Given the description of an element on the screen output the (x, y) to click on. 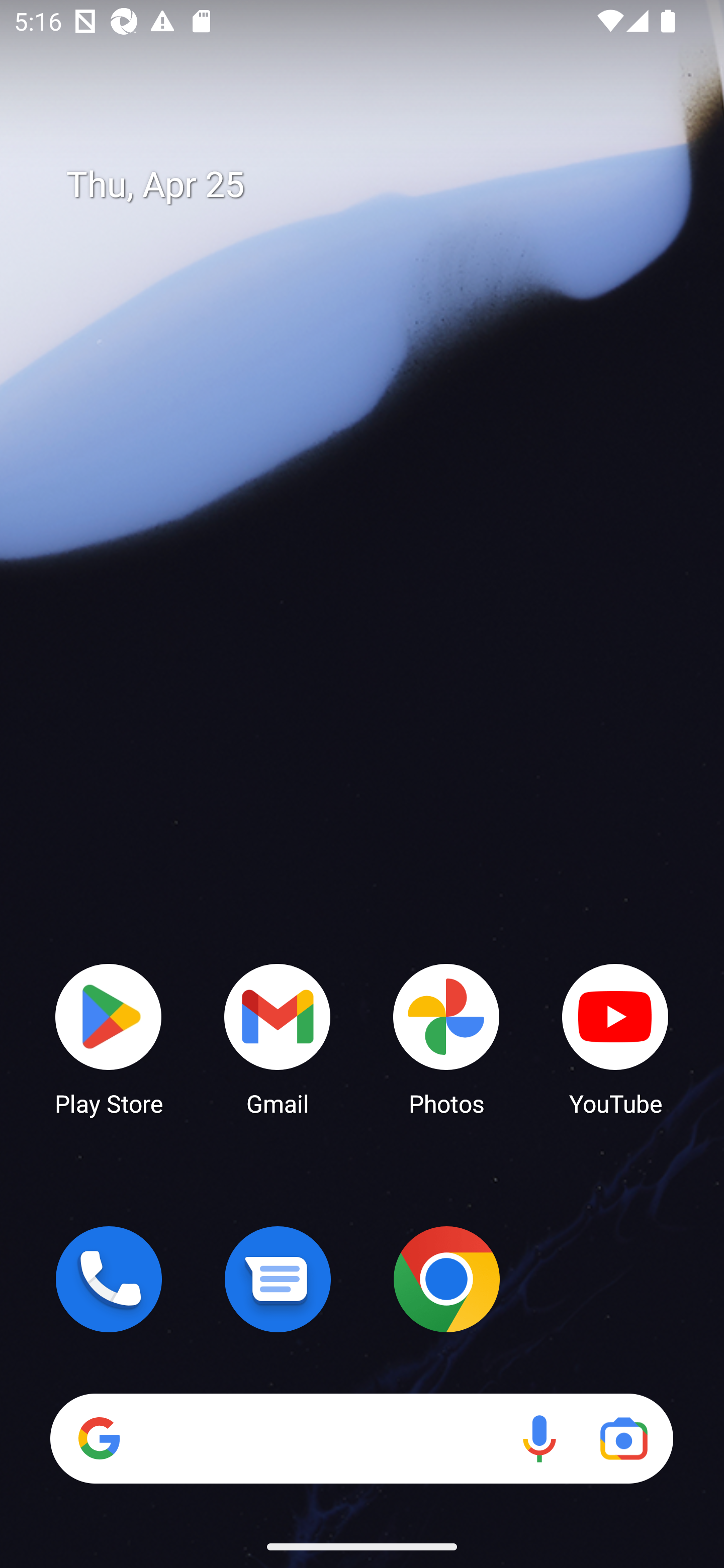
Thu, Apr 25 (375, 184)
Play Store (108, 1038)
Gmail (277, 1038)
Photos (445, 1038)
YouTube (615, 1038)
Phone (108, 1279)
Messages (277, 1279)
Chrome (446, 1279)
Search Voice search Google Lens (361, 1438)
Voice search (539, 1438)
Google Lens (623, 1438)
